Given the description of an element on the screen output the (x, y) to click on. 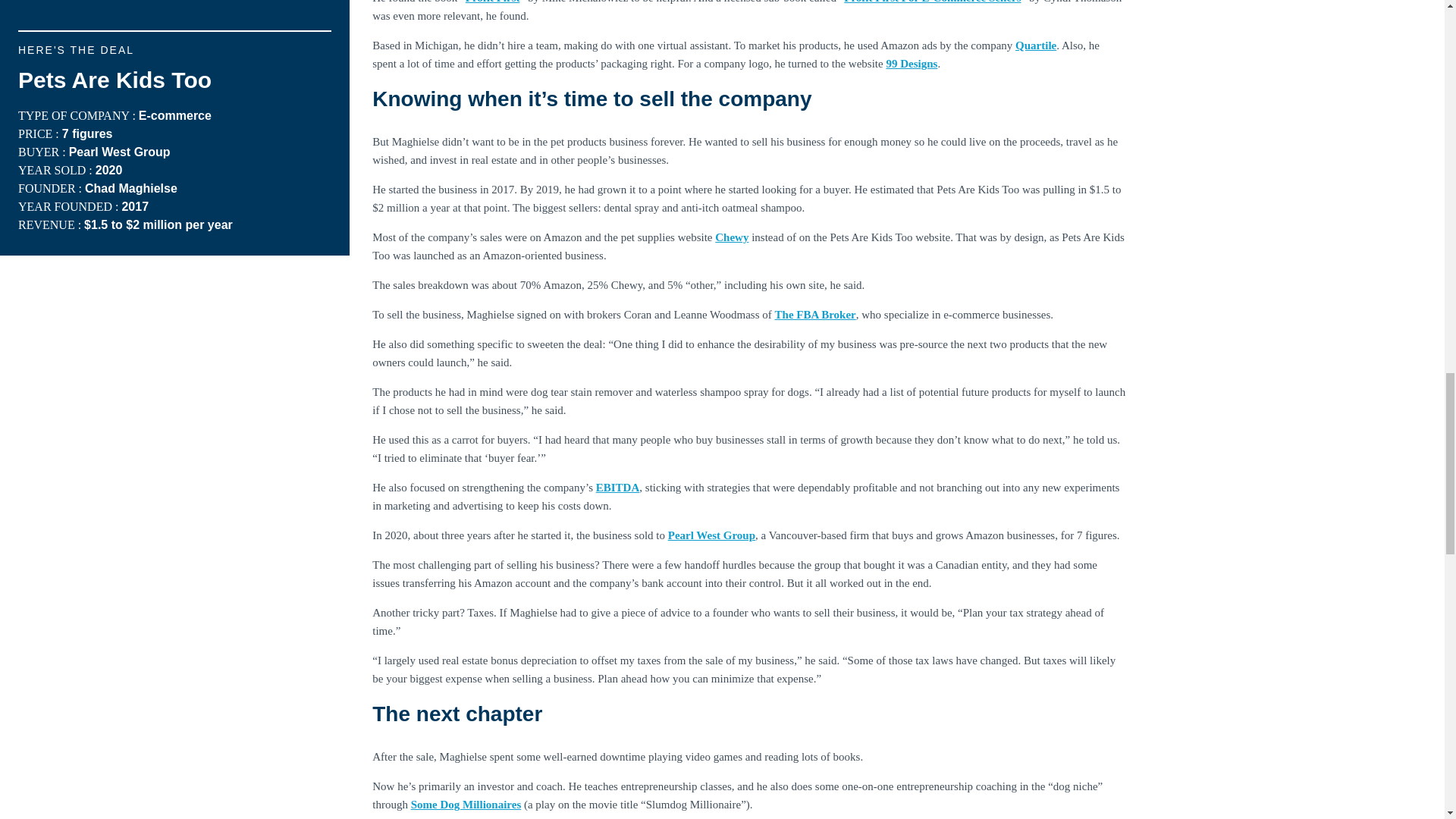
Quartile (1035, 45)
Profit First For E-Commerce Sellers (932, 2)
99 Designs (911, 63)
Chewy (731, 236)
The FBA Broker (815, 314)
Pearl West Group (711, 535)
Profit First (492, 2)
Some Dog Millionaires (465, 804)
EBITDA (617, 487)
